Given the description of an element on the screen output the (x, y) to click on. 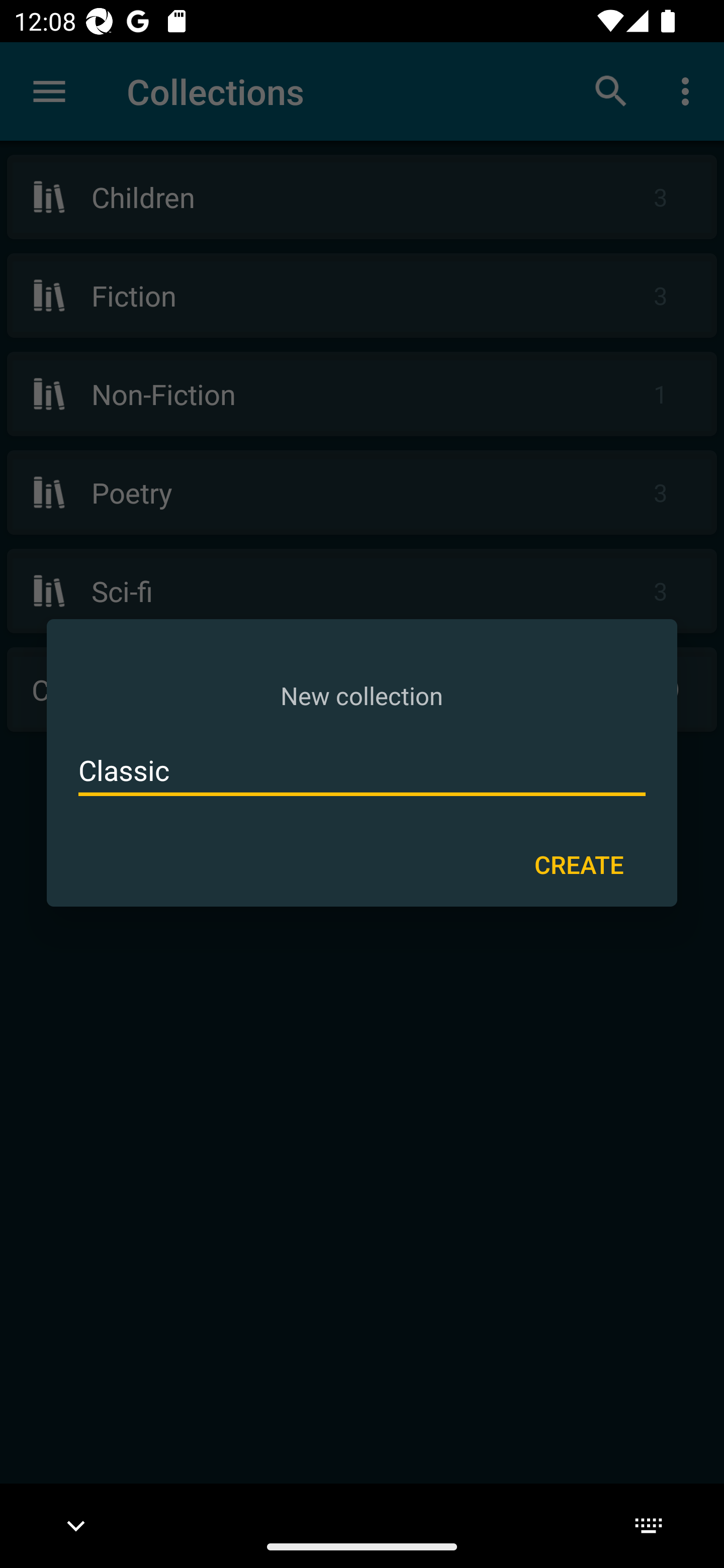
Classic (361, 770)
CREATE (578, 863)
